Given the description of an element on the screen output the (x, y) to click on. 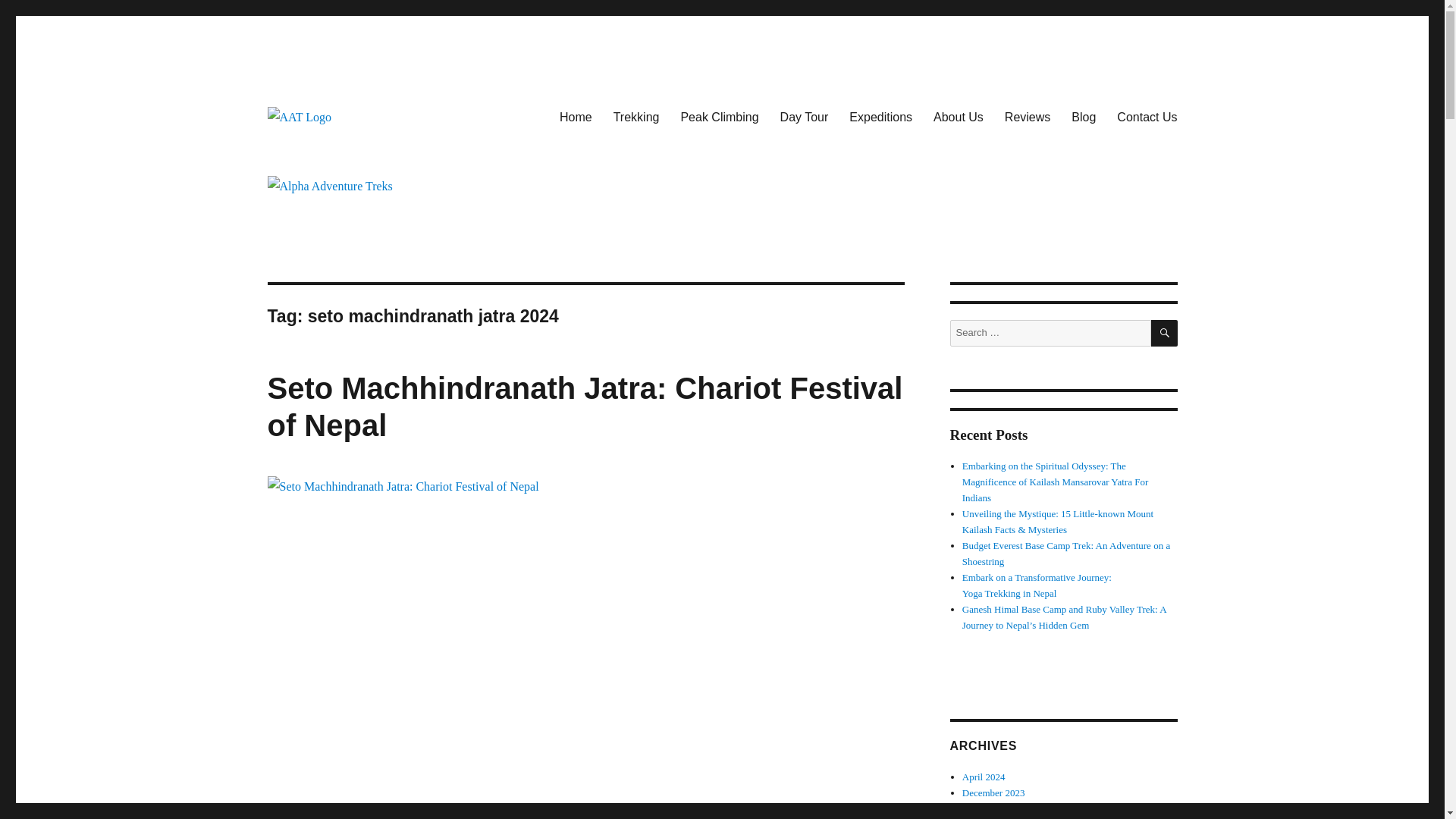
SEARCH (1164, 333)
Expeditions (880, 116)
Seto Machhindranath Jatra: Chariot Festival of Nepal (584, 406)
Blog (1083, 116)
Alpha Adventure Treks (381, 151)
Home (575, 116)
About Us (958, 116)
Contact Us (1147, 116)
Trekking (635, 116)
Reviews (1027, 116)
Day Tour (805, 116)
Peak Climbing (718, 116)
